Given the description of an element on the screen output the (x, y) to click on. 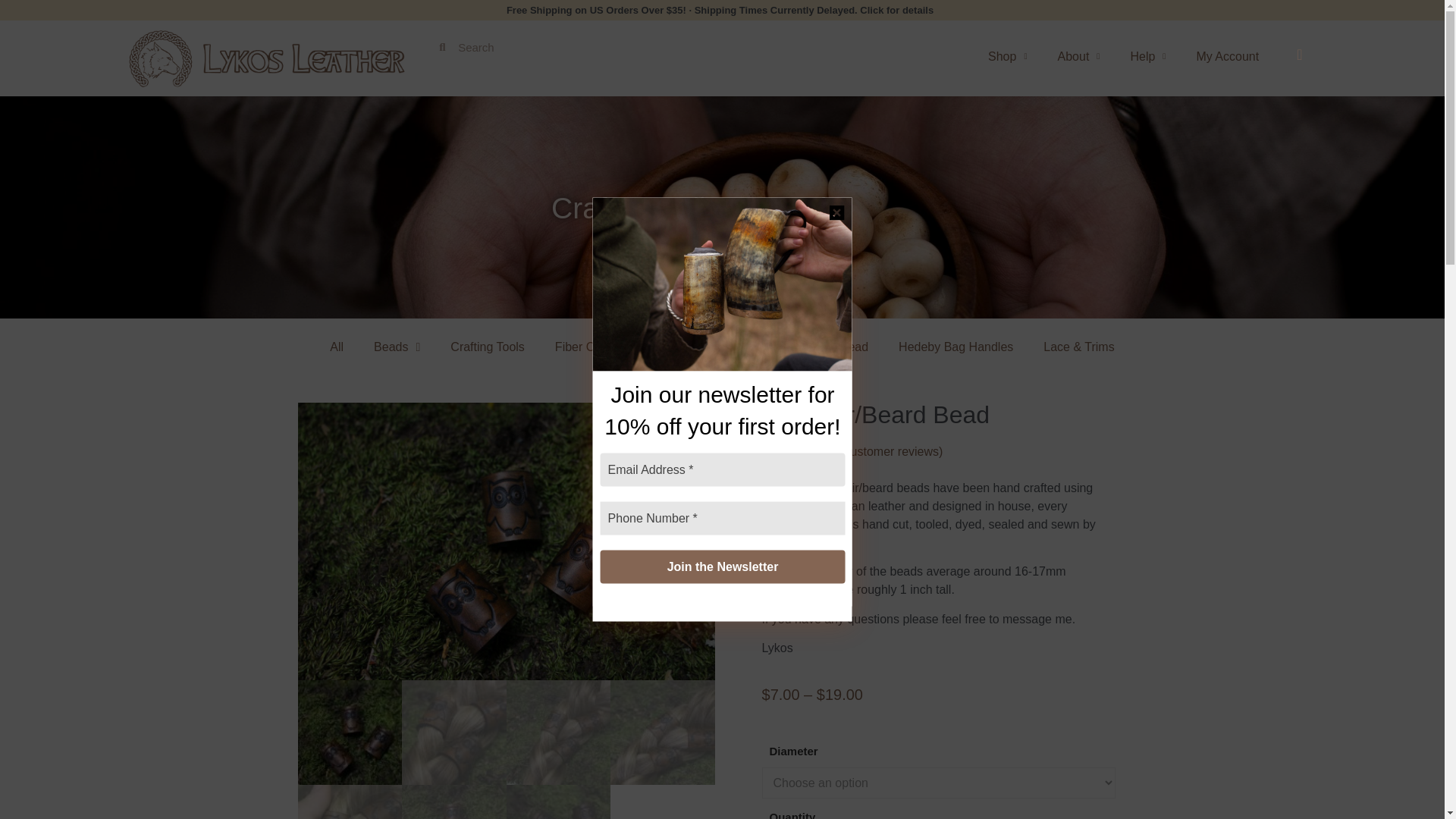
Join the Newsletter (721, 566)
Phone Number (721, 517)
Email Address (721, 469)
Shop (1007, 56)
